Given the description of an element on the screen output the (x, y) to click on. 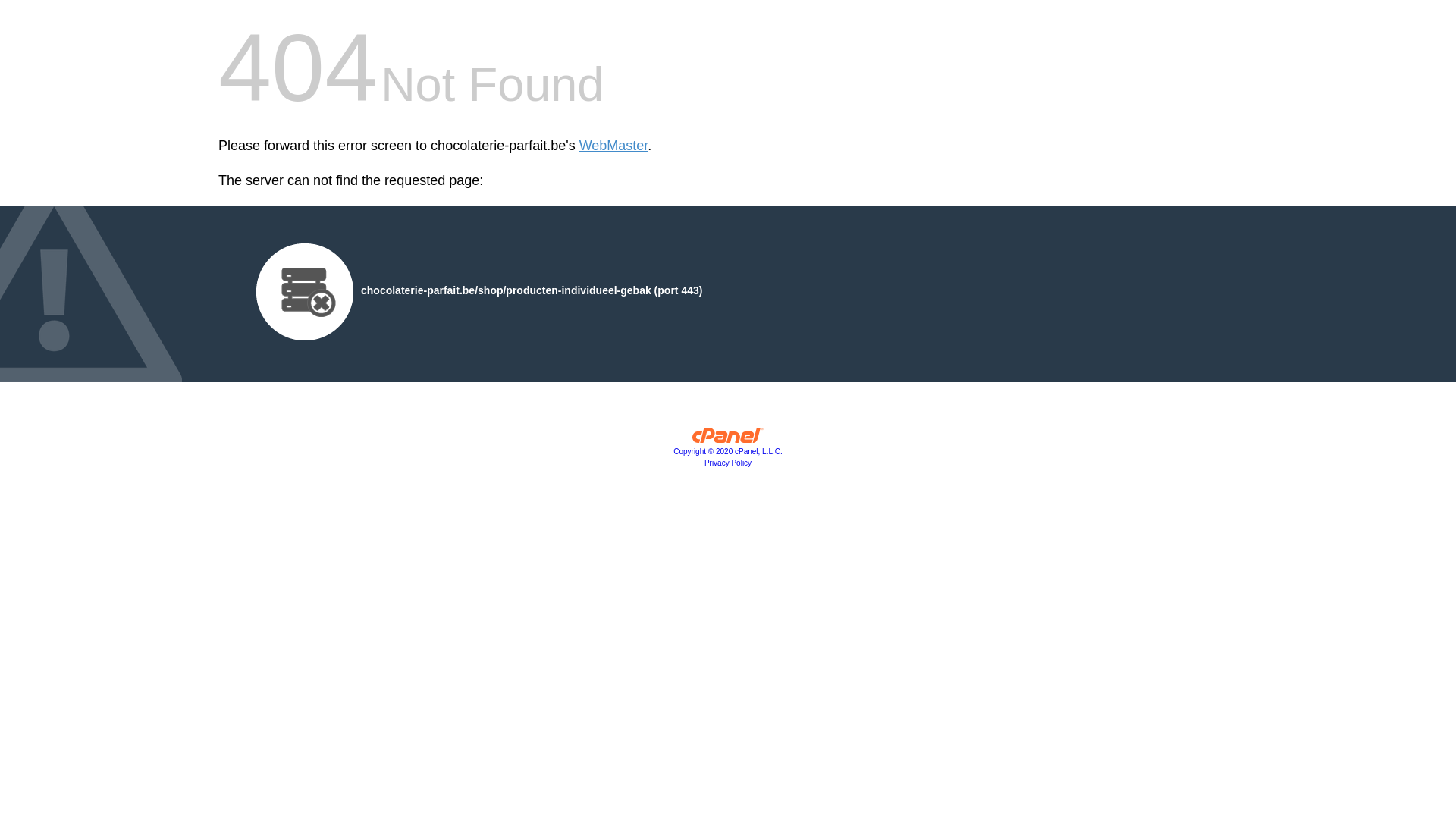
Privacy Policy Element type: text (727, 462)
WebMaster Element type: text (613, 145)
cPanel, Inc. Element type: hover (728, 439)
